Given the description of an element on the screen output the (x, y) to click on. 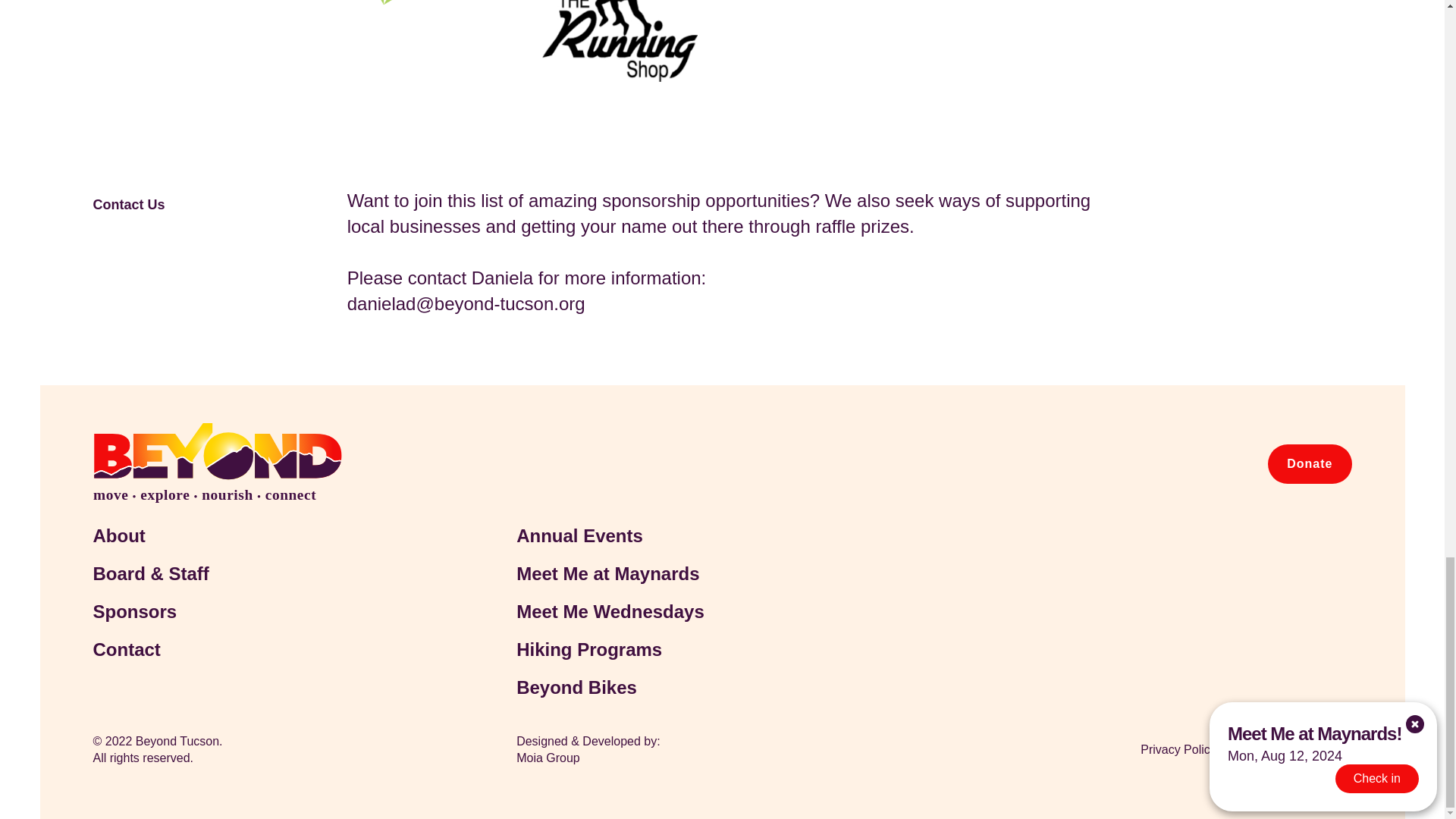
Donate (1309, 464)
Privacy Policy (1162, 748)
Hiking Programs (680, 649)
About (257, 535)
Sponsors (257, 611)
Meet Me at Maynards (680, 573)
Contact (257, 649)
Annual Events (680, 535)
Meet Me Wednesdays (680, 611)
Beyond Bikes (680, 687)
